Given the description of an element on the screen output the (x, y) to click on. 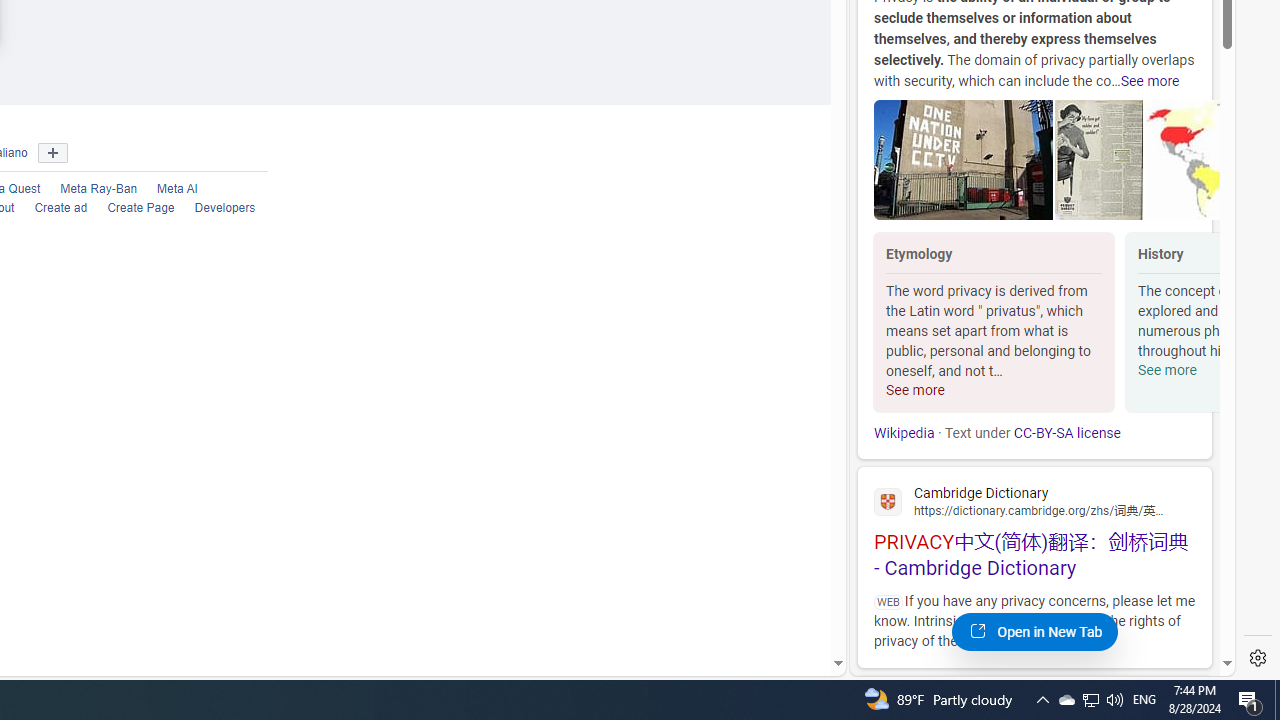
Show more languages (52, 153)
Click to scroll right (1196, 324)
CC-BY-SA license (1066, 433)
Wikipedia (904, 433)
Meta AI (177, 189)
Developers (215, 208)
